Given the description of an element on the screen output the (x, y) to click on. 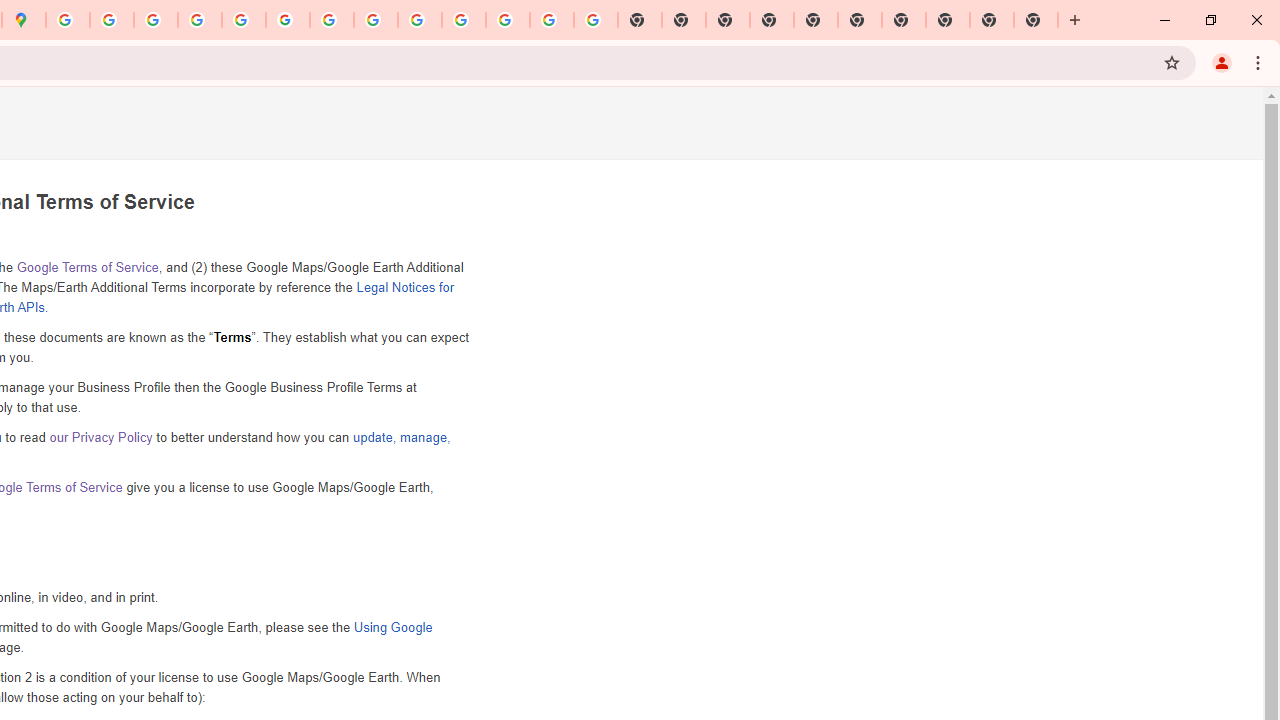
Browse Chrome as a guest - Computer - Google Chrome Help (376, 20)
Close (1256, 20)
our Privacy Policy (100, 437)
Restore (1210, 20)
New Tab (771, 20)
You (1221, 62)
Google Terms of Service (86, 267)
New Tab (1035, 20)
New Tab (1075, 20)
Google Images (595, 20)
